Given the description of an element on the screen output the (x, y) to click on. 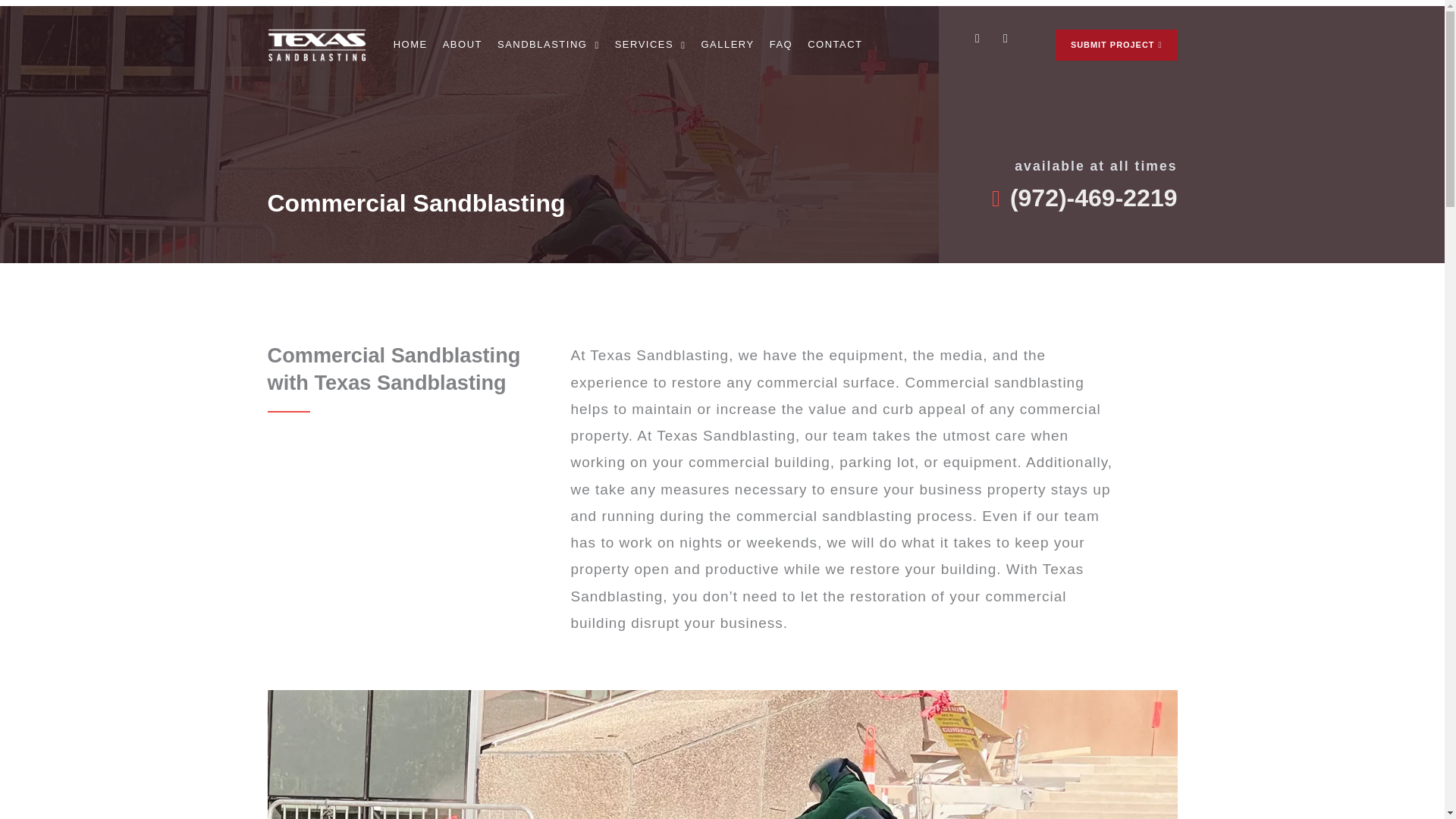
HOME (410, 44)
ABOUT (461, 44)
SERVICES (649, 44)
GALLERY (727, 44)
SANDBLASTING (548, 44)
CONTACT (834, 44)
